Given the description of an element on the screen output the (x, y) to click on. 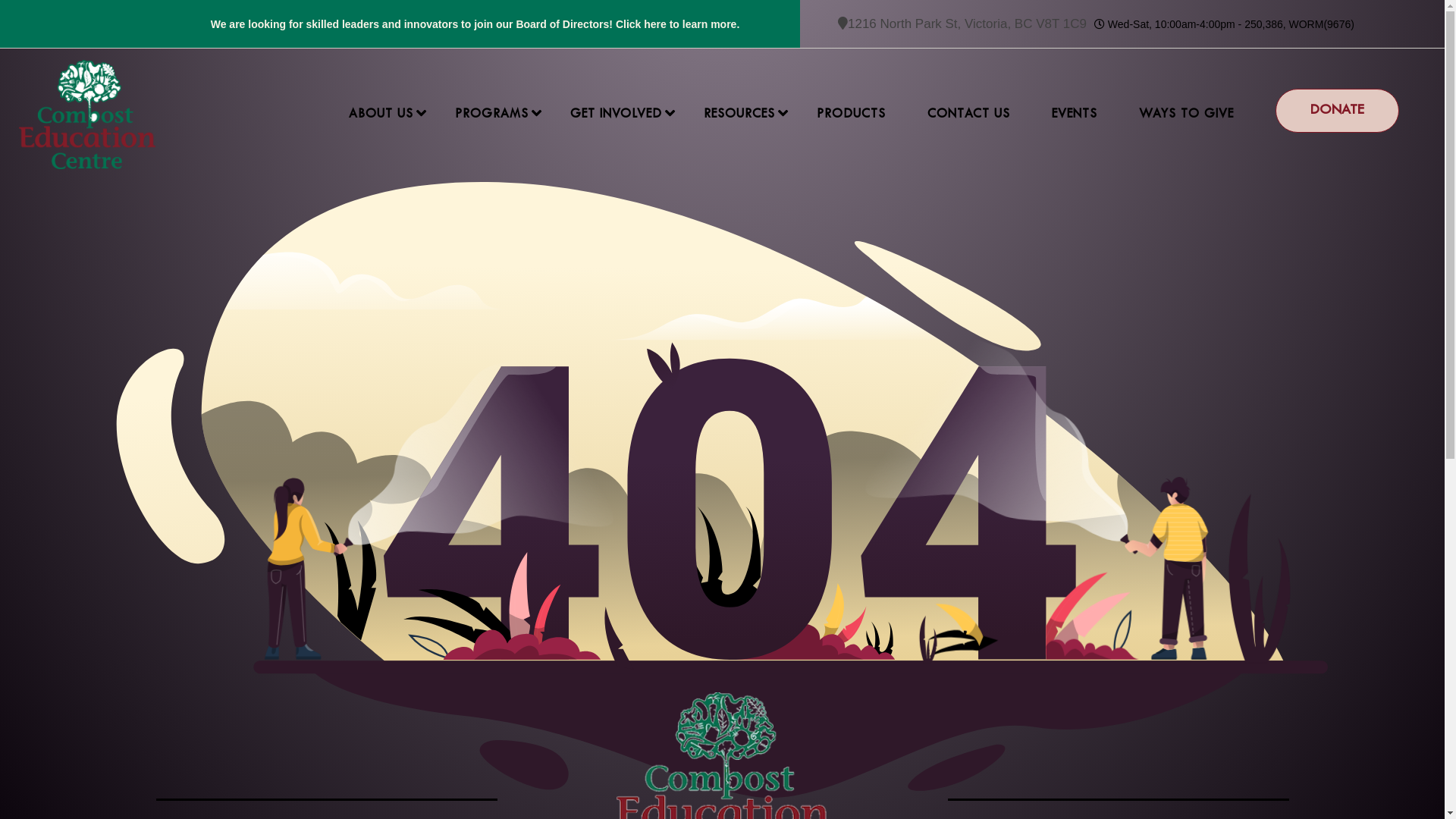
GET INVOLVED Element type: text (616, 114)
ABOUT US Element type: text (380, 114)
PROGRAMS Element type: text (491, 114)
WAYS TO GIVE Element type: text (1186, 114)
DONATE Element type: text (1337, 110)
RESOURCES Element type: text (739, 114)
PRODUCTS Element type: text (850, 114)
Wed-Sat, 10:00am-4:00pm - 250,386, WORM(9676) Element type: text (1224, 24)
CONTACT US Element type: text (968, 114)
EVENTS Element type: text (1074, 114)
